Given the description of an element on the screen output the (x, y) to click on. 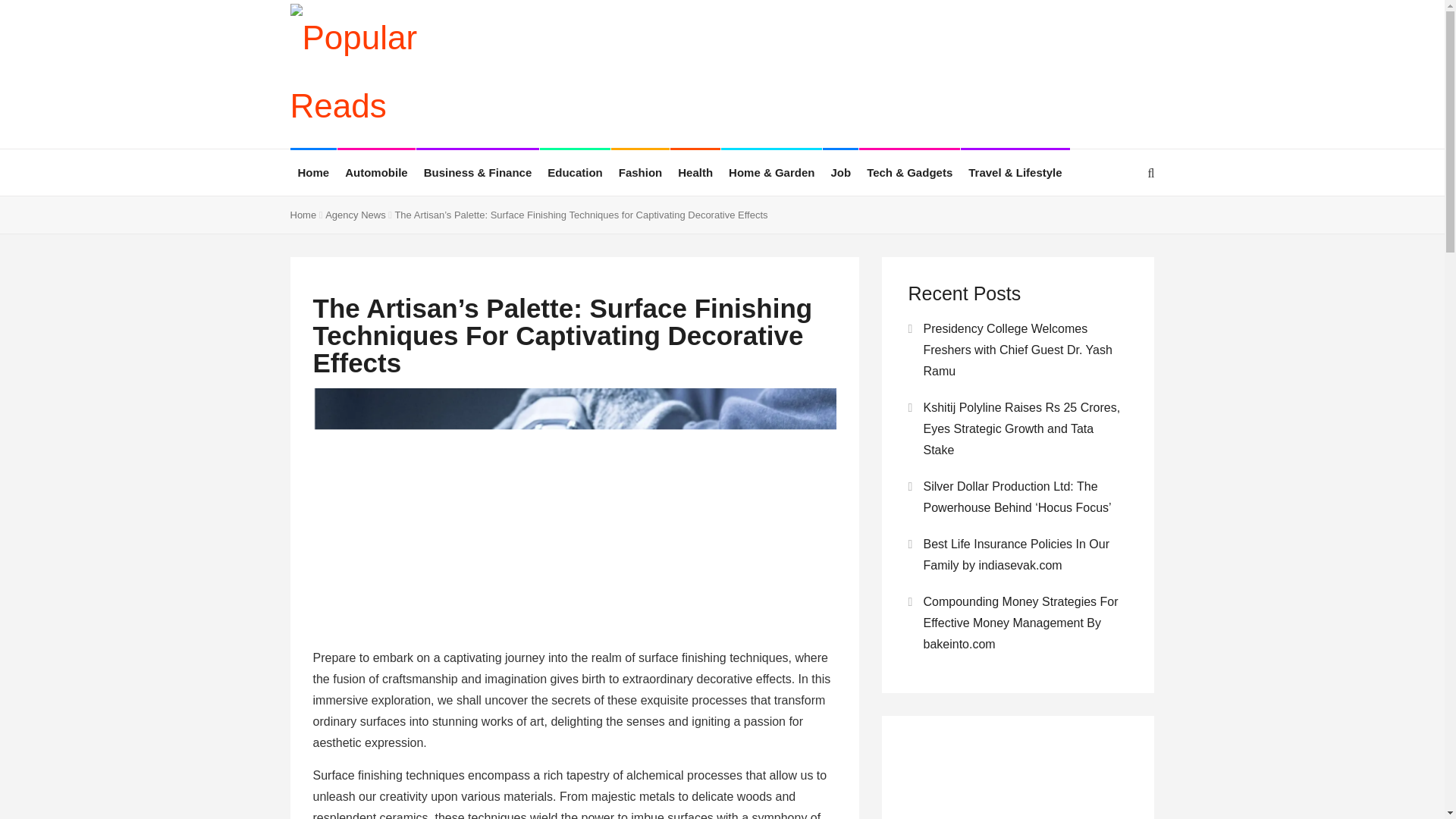
Automobile (376, 172)
Fashion (640, 172)
Education (574, 172)
Education (574, 172)
Popular Reads (389, 75)
Fashion (640, 172)
Automobile (376, 172)
